Given the description of an element on the screen output the (x, y) to click on. 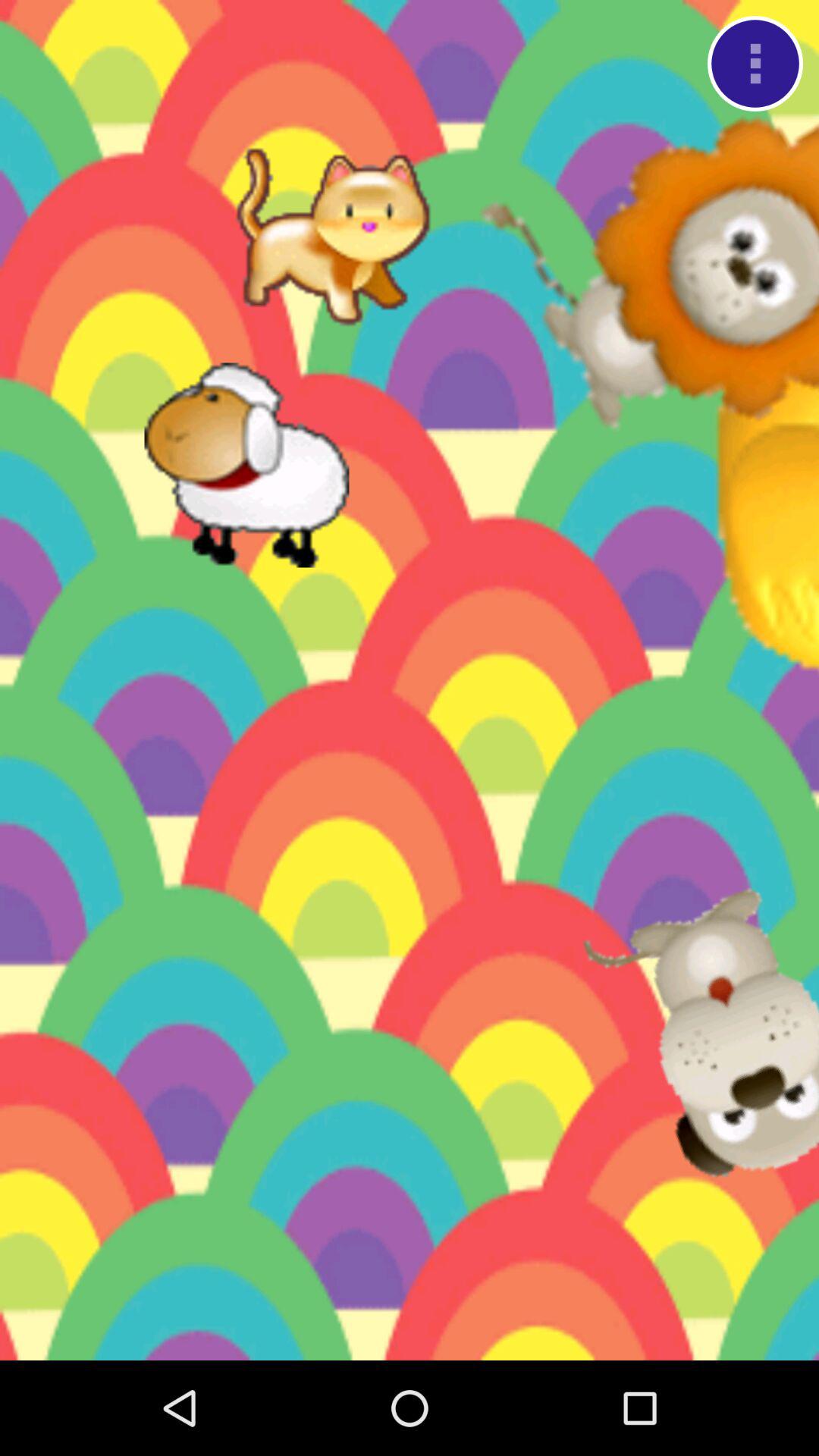
menu (755, 63)
